Given the description of an element on the screen output the (x, y) to click on. 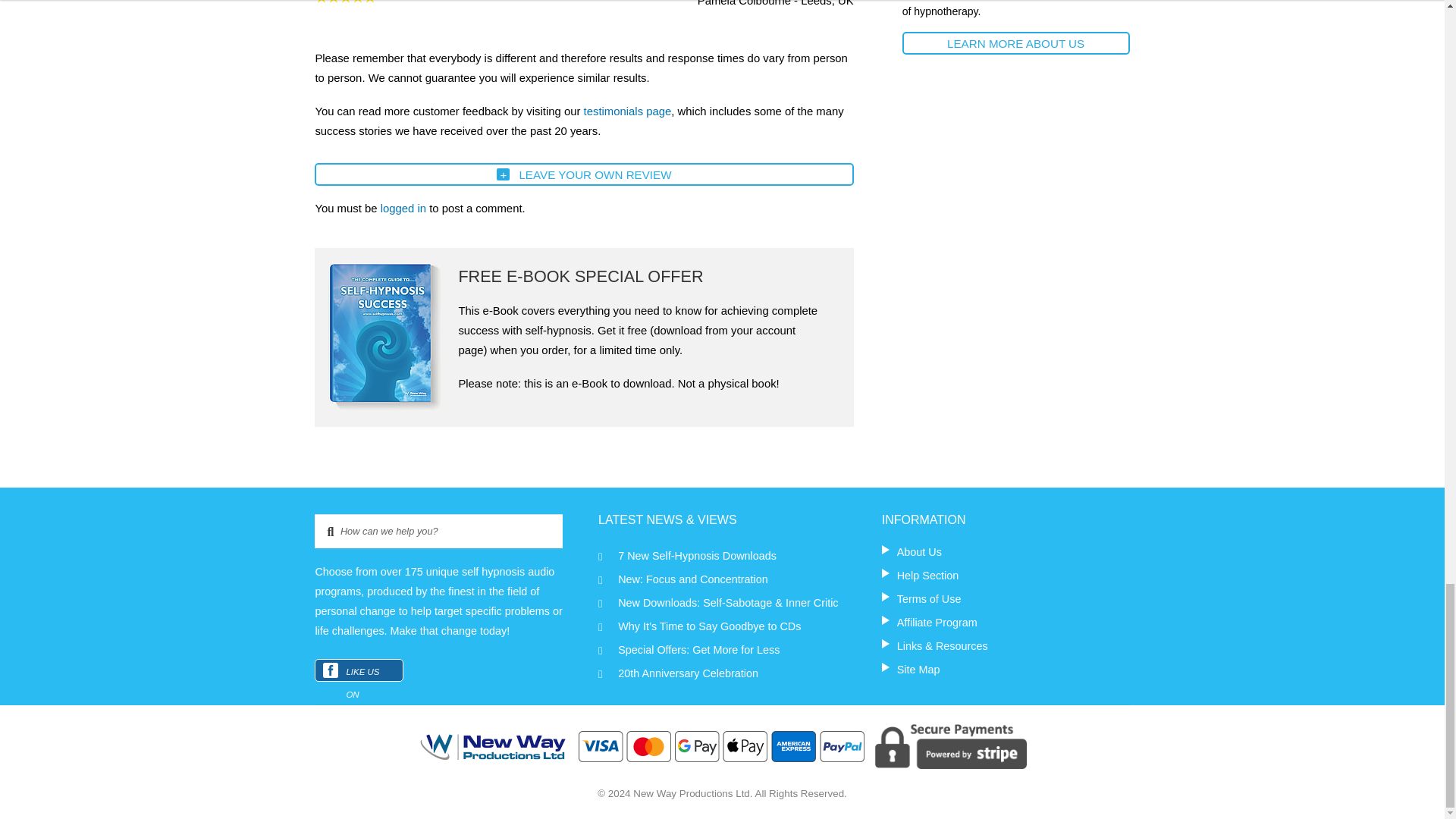
Search for: (438, 530)
Rated 5 out of 5 (344, 1)
